Given the description of an element on the screen output the (x, y) to click on. 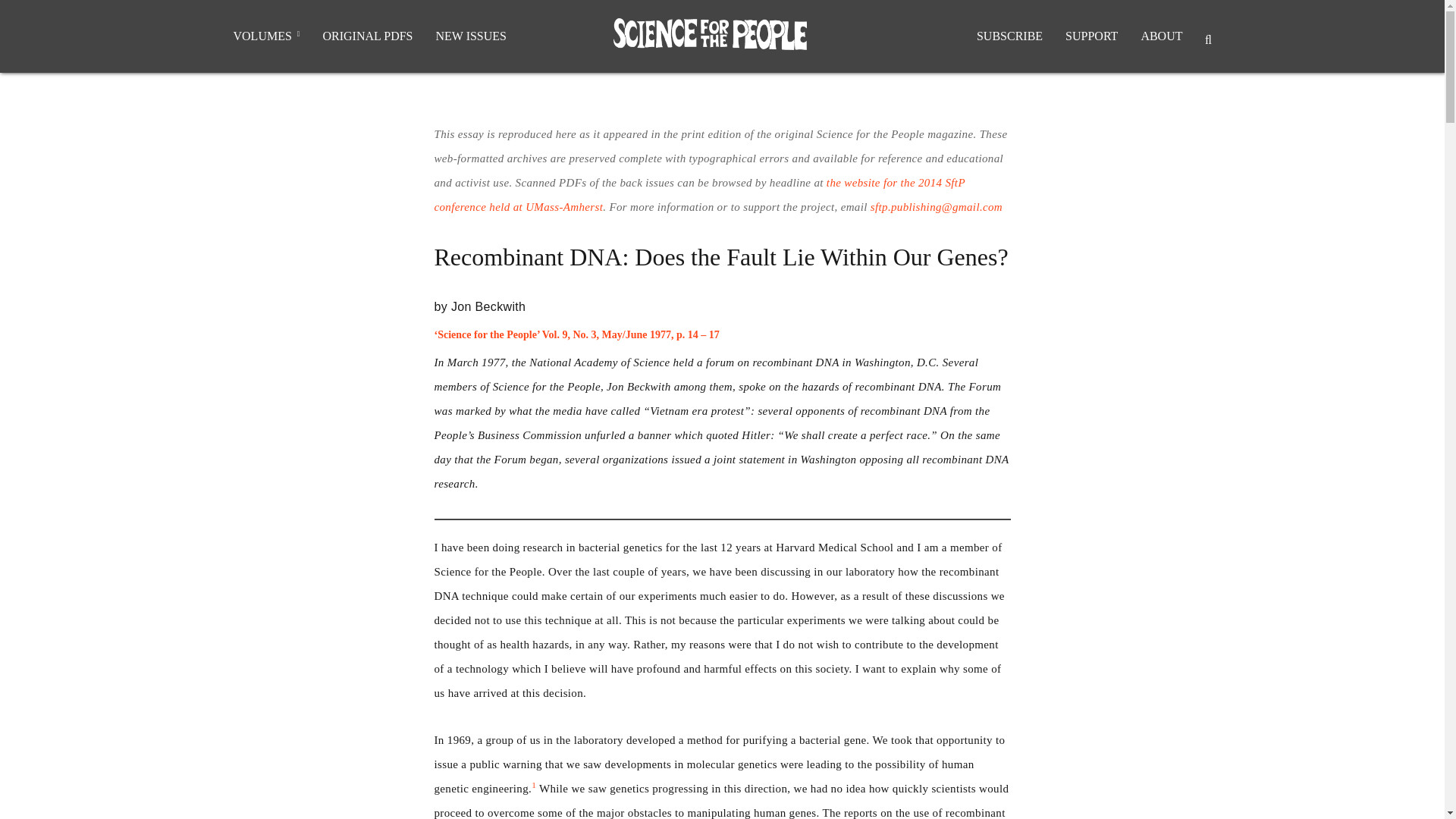
SUBSCRIBE (1009, 36)
VOLUMES (266, 36)
ORIGINAL PDFS (367, 36)
NEW ISSUES (470, 36)
SUPPORT (1091, 36)
ABOUT (1161, 36)
